Given the description of an element on the screen output the (x, y) to click on. 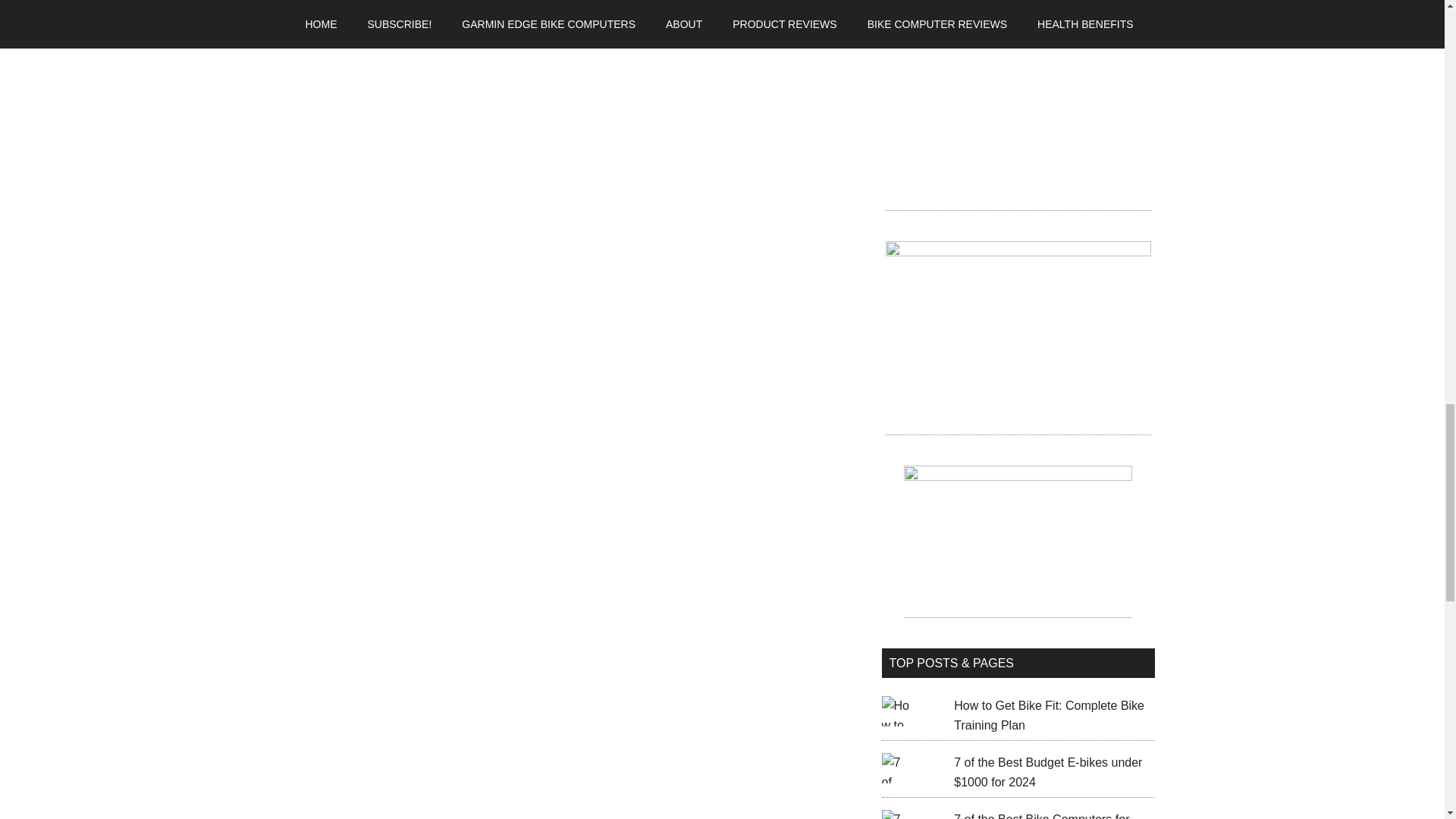
slide 2 best indoor budget bike trainers (1018, 541)
How to Get Bike Fit: Complete Bike Training Plan (1048, 715)
Slide 8 (1018, 337)
Slide 5 (1018, 112)
